Given the description of an element on the screen output the (x, y) to click on. 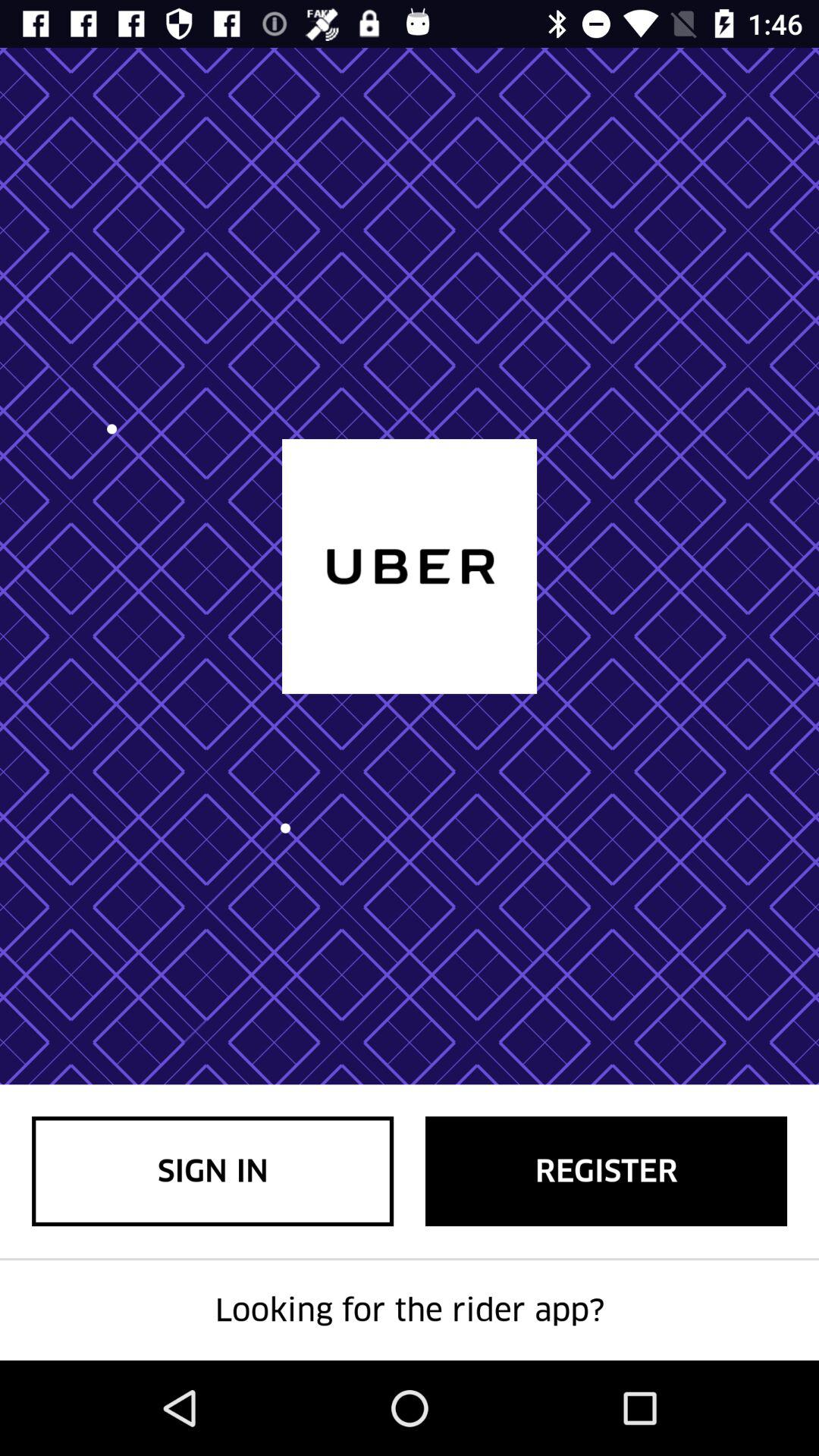
turn on the register item (606, 1171)
